Given the description of an element on the screen output the (x, y) to click on. 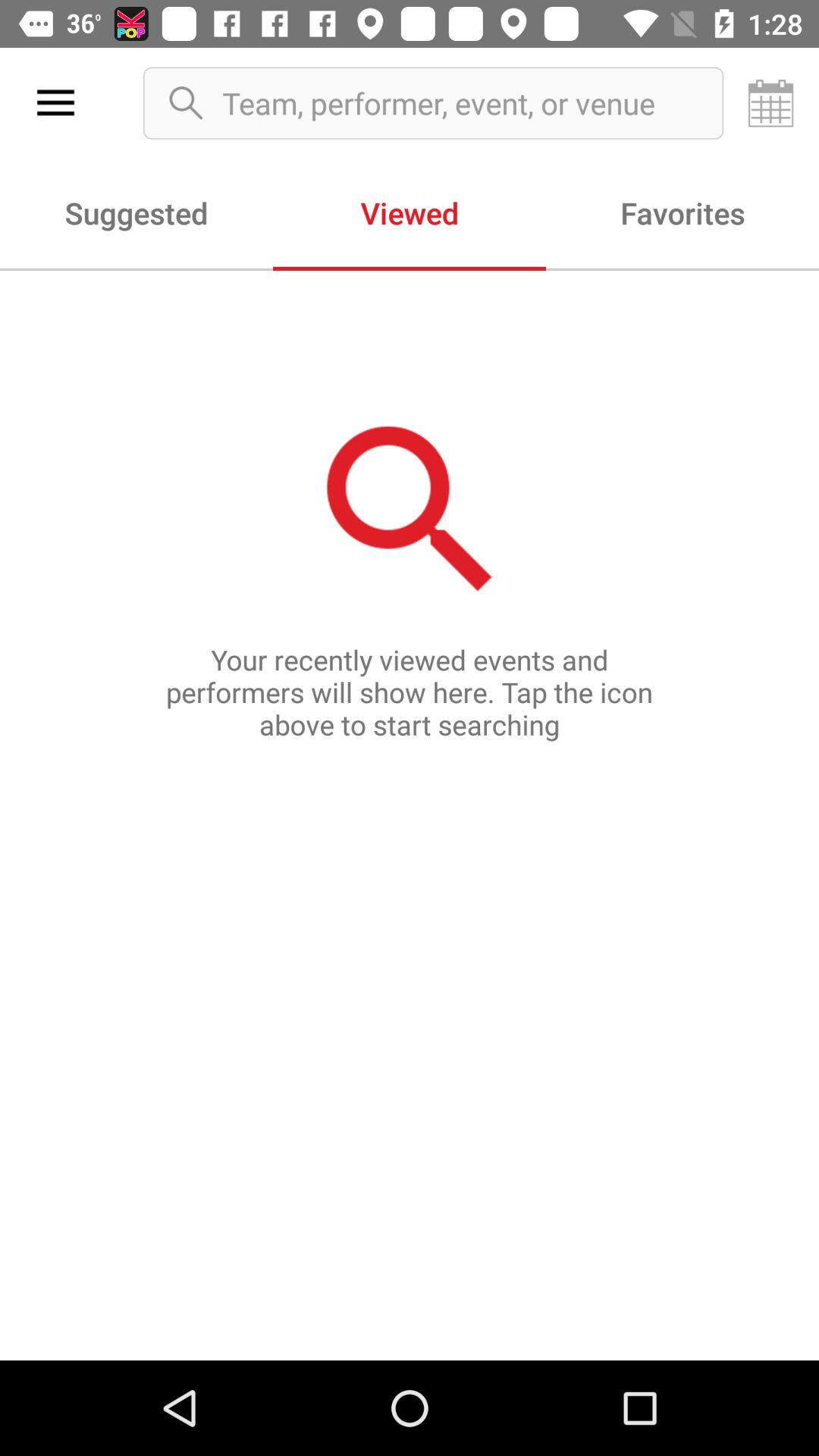
jump until suggested (136, 212)
